Given the description of an element on the screen output the (x, y) to click on. 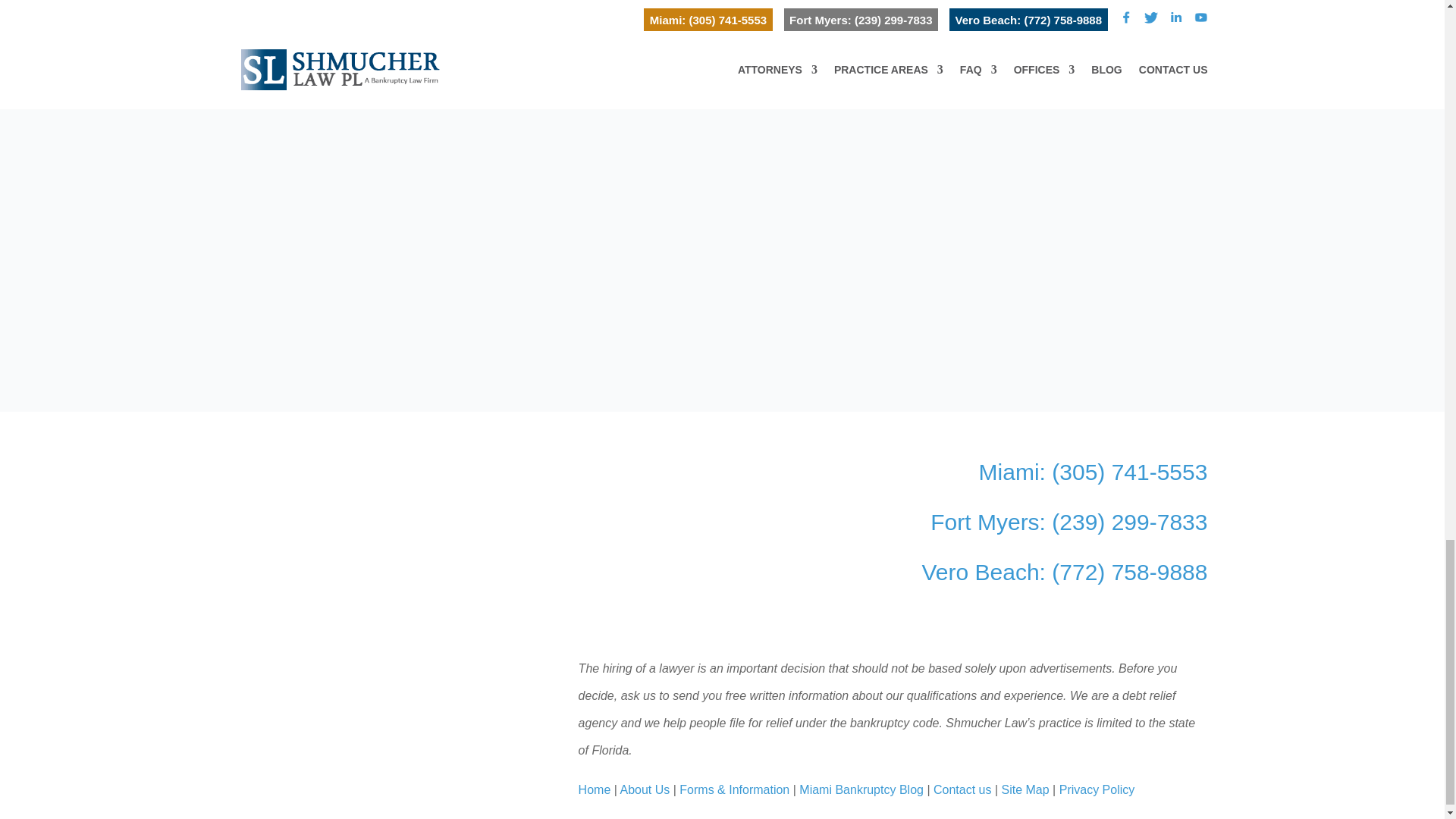
Shmucher Law Logo - Blue (379, 684)
